Given the description of an element on the screen output the (x, y) to click on. 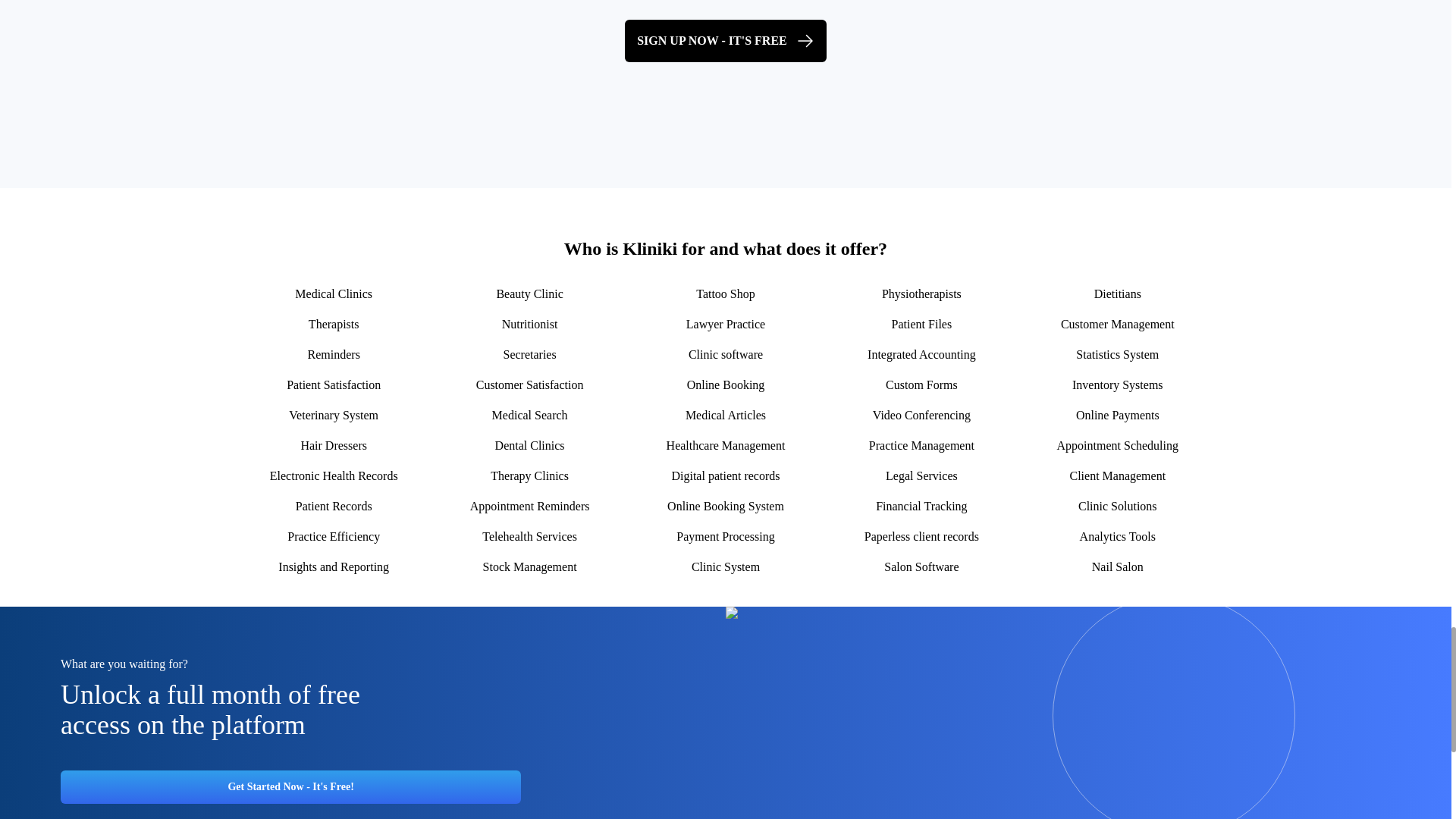
Get Started Now - It's Free! (291, 786)
SIGN UP NOW - IT'S FREE (725, 40)
Click to get started for free (291, 786)
Click to get started for free (725, 40)
SIGN UP NOW - IT'S FREE (725, 40)
